Given the description of an element on the screen output the (x, y) to click on. 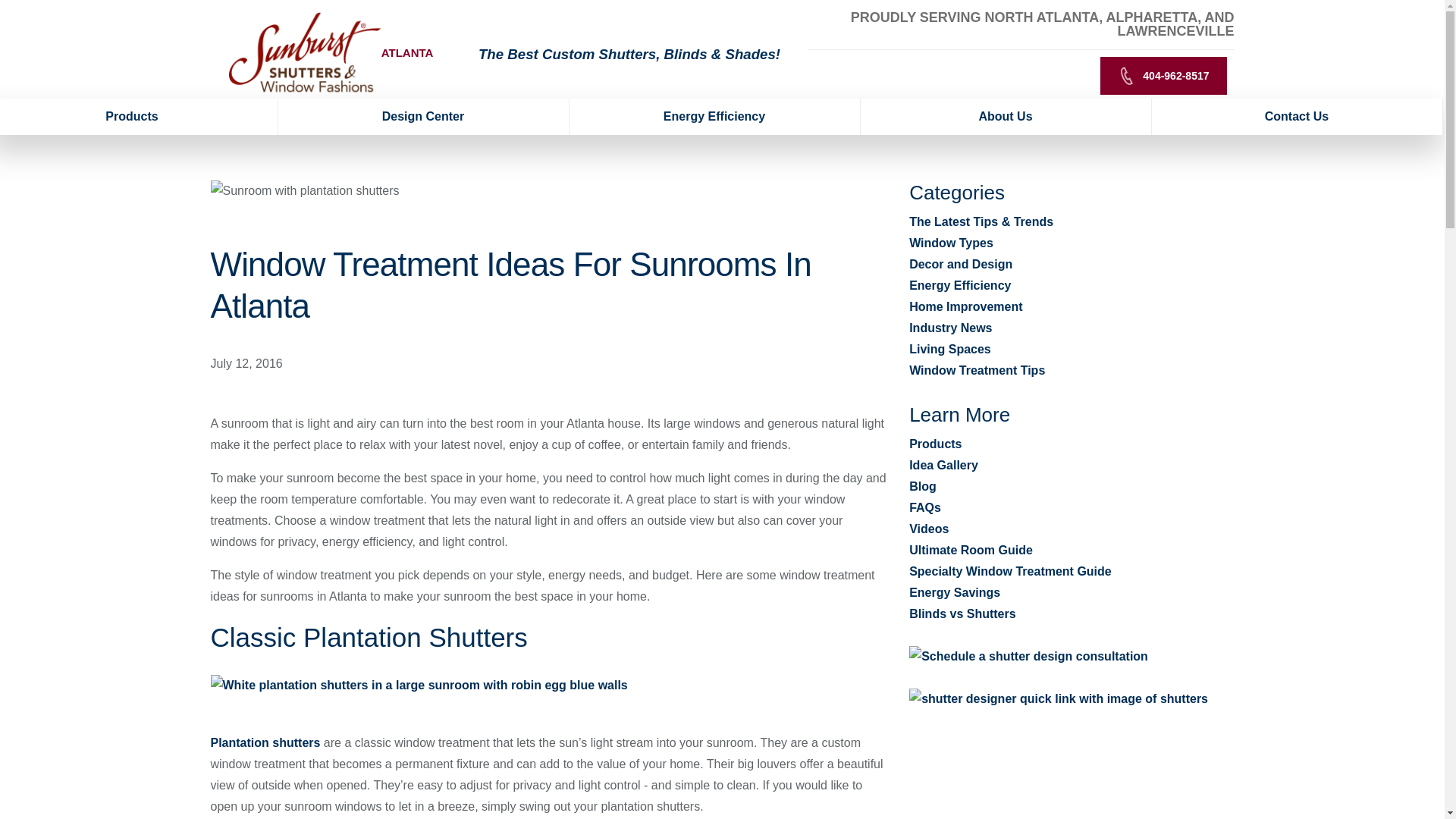
Sunburst Shutters Atlanta Home (304, 52)
Products (139, 116)
Design Center (423, 116)
404-962-8517 (1162, 75)
